Given the description of an element on the screen output the (x, y) to click on. 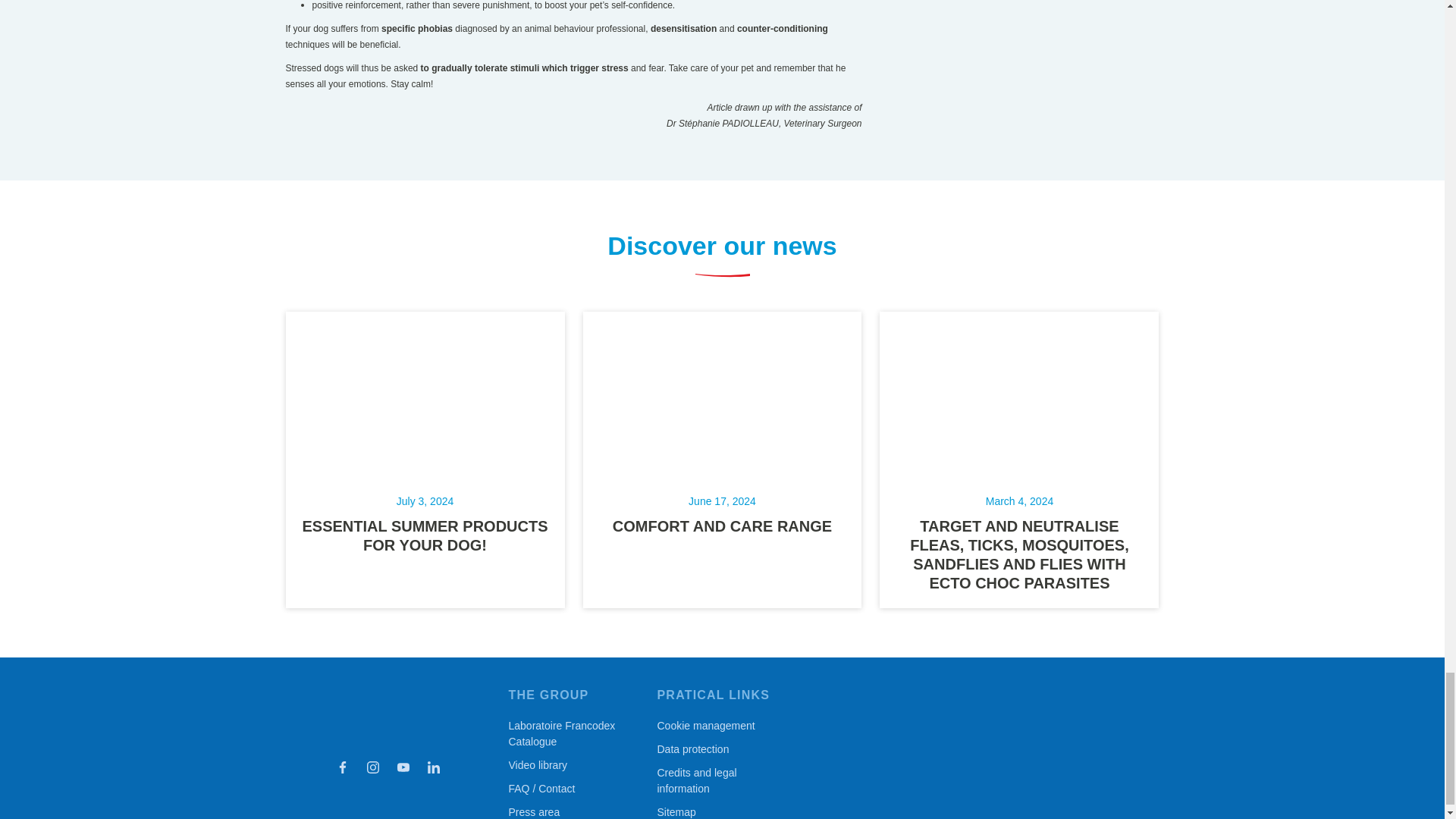
Facebook (341, 766)
LinkedIn (433, 766)
YouTube (402, 766)
Instagram (372, 766)
